Given the description of an element on the screen output the (x, y) to click on. 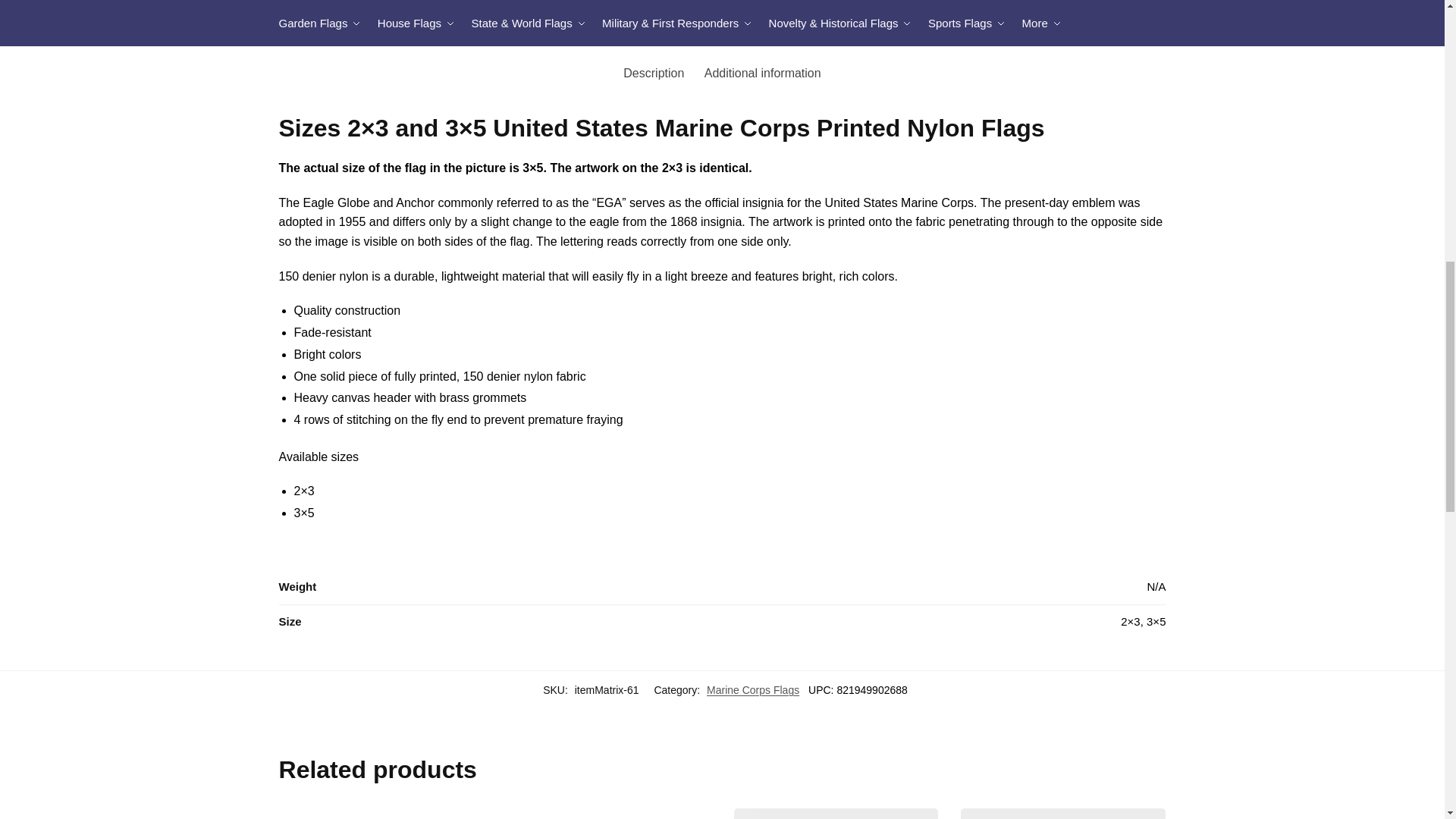
Marine Corps Seal Sublimated Garden Flag (608, 813)
